Given the description of an element on the screen output the (x, y) to click on. 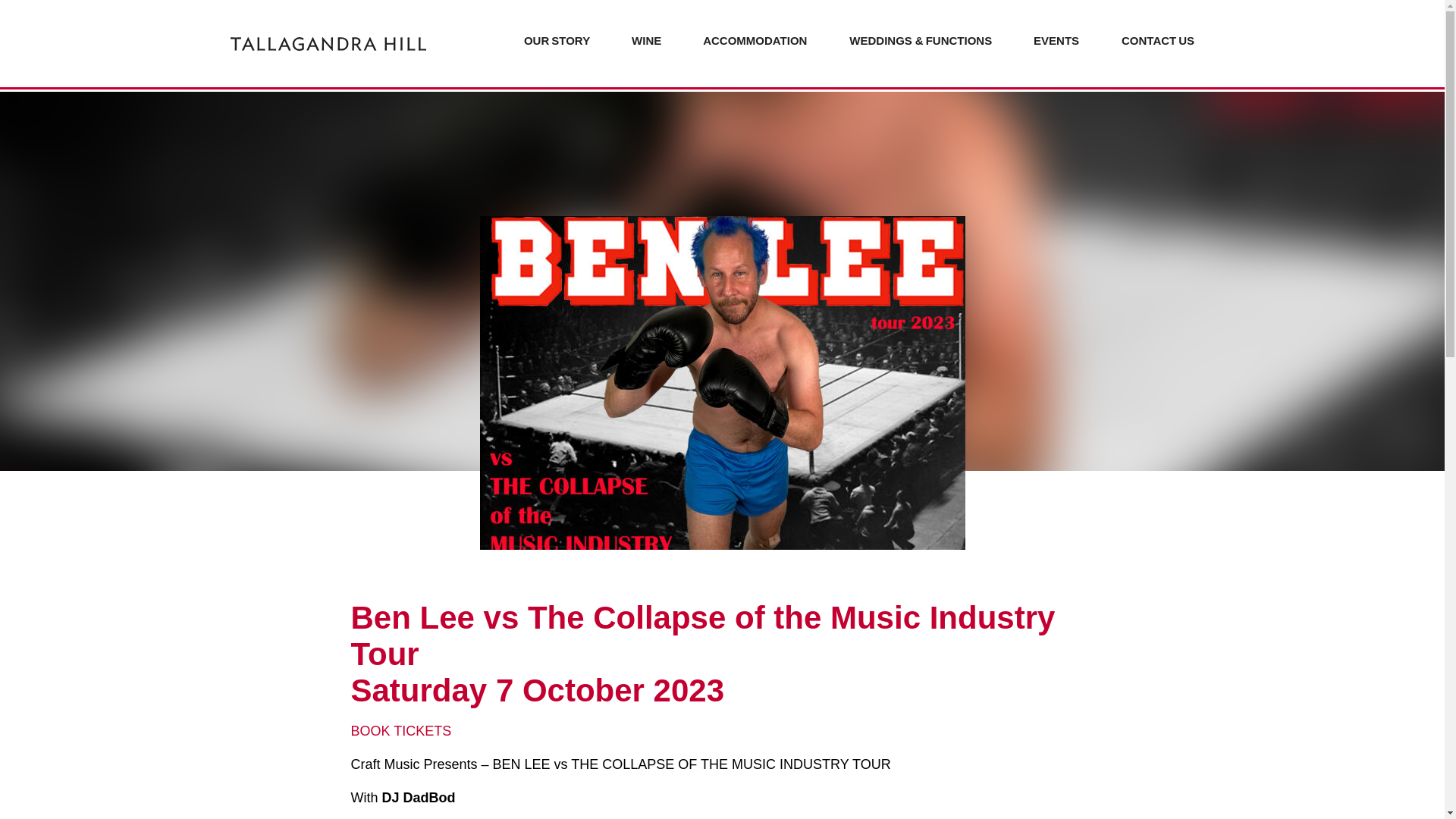
Wine (646, 40)
Functions (959, 40)
Story (570, 40)
Weddings (881, 40)
us (1185, 40)
Our (536, 40)
Contact (1149, 40)
Tallagandra Hill (327, 43)
Events (1055, 40)
OUR STORY (556, 43)
EVENTS (1056, 43)
CONTACT US (1157, 43)
BOOK TICKETS (400, 730)
ACCOMMODATION (755, 43)
Accommodation (754, 40)
